Given the description of an element on the screen output the (x, y) to click on. 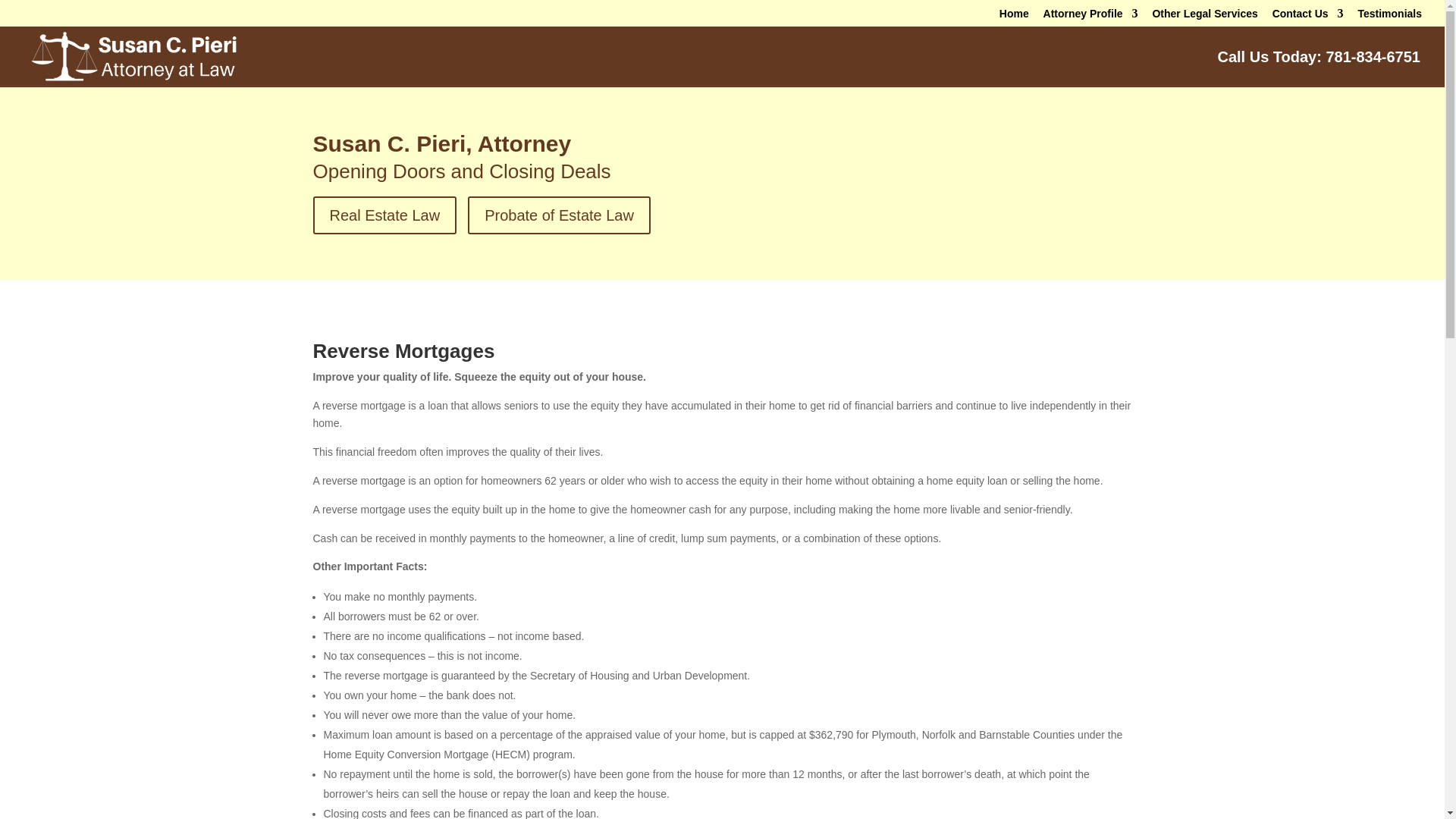
Call Us Today: 781-834-6751 (1319, 68)
Home (1013, 16)
Testimonials (1389, 16)
Attorney Profile (1090, 16)
Real Estate Law (385, 215)
Probate of Estate Law (558, 215)
Contact Us (1307, 16)
Other Legal Services (1204, 16)
